Given the description of an element on the screen output the (x, y) to click on. 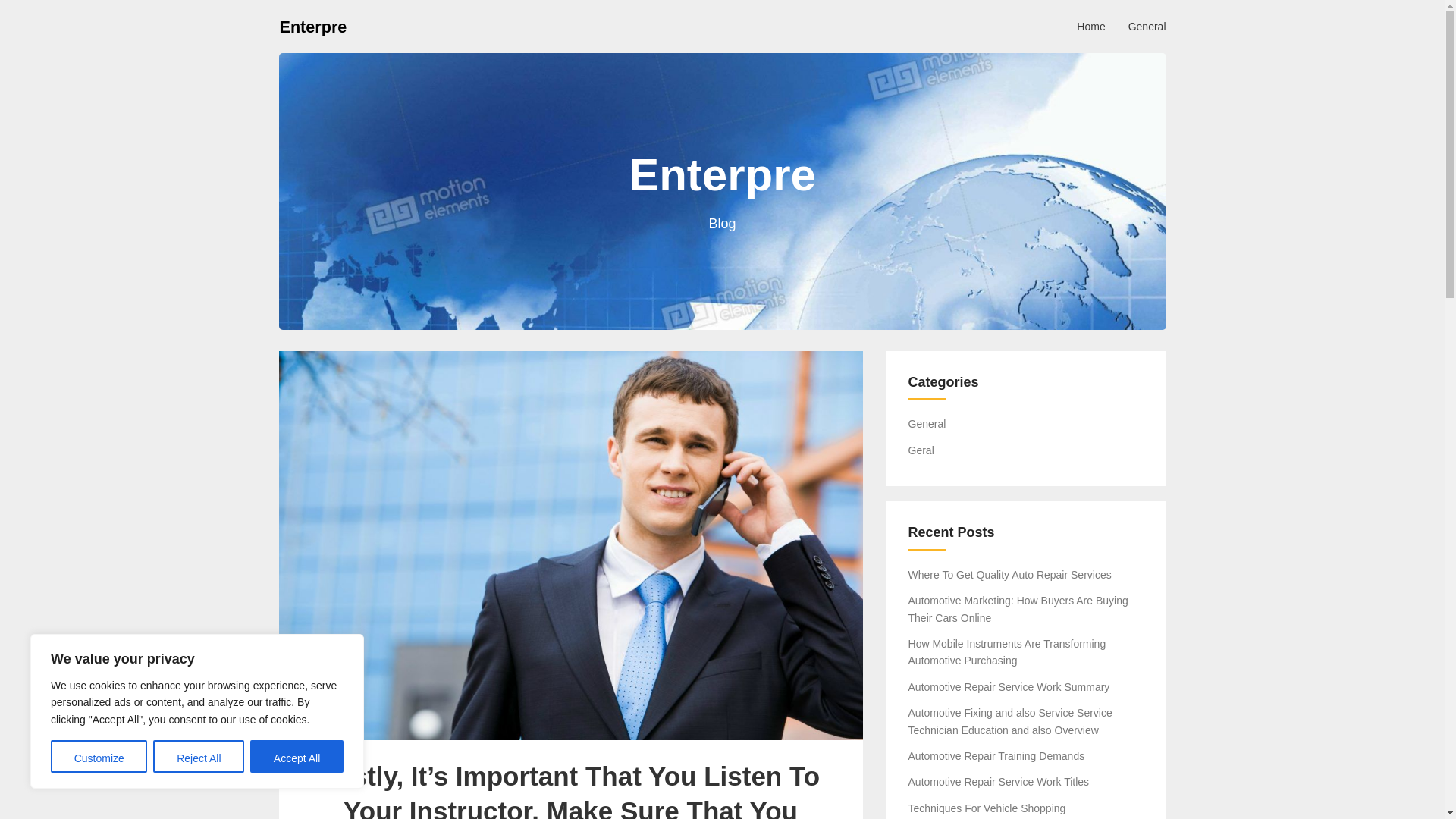
Techniques For Vehicle Shopping (986, 808)
Automotive Repair Training Demands (996, 756)
Enterpre (312, 26)
Customize (98, 756)
Reject All (198, 756)
Automotive Repair Service Work Summary (1008, 686)
General (1146, 26)
Accept All (296, 756)
Geral (921, 450)
Home (1090, 26)
Where To Get Quality Auto Repair Services (1010, 574)
Automotive Repair Service Work Titles (998, 781)
